Given the description of an element on the screen output the (x, y) to click on. 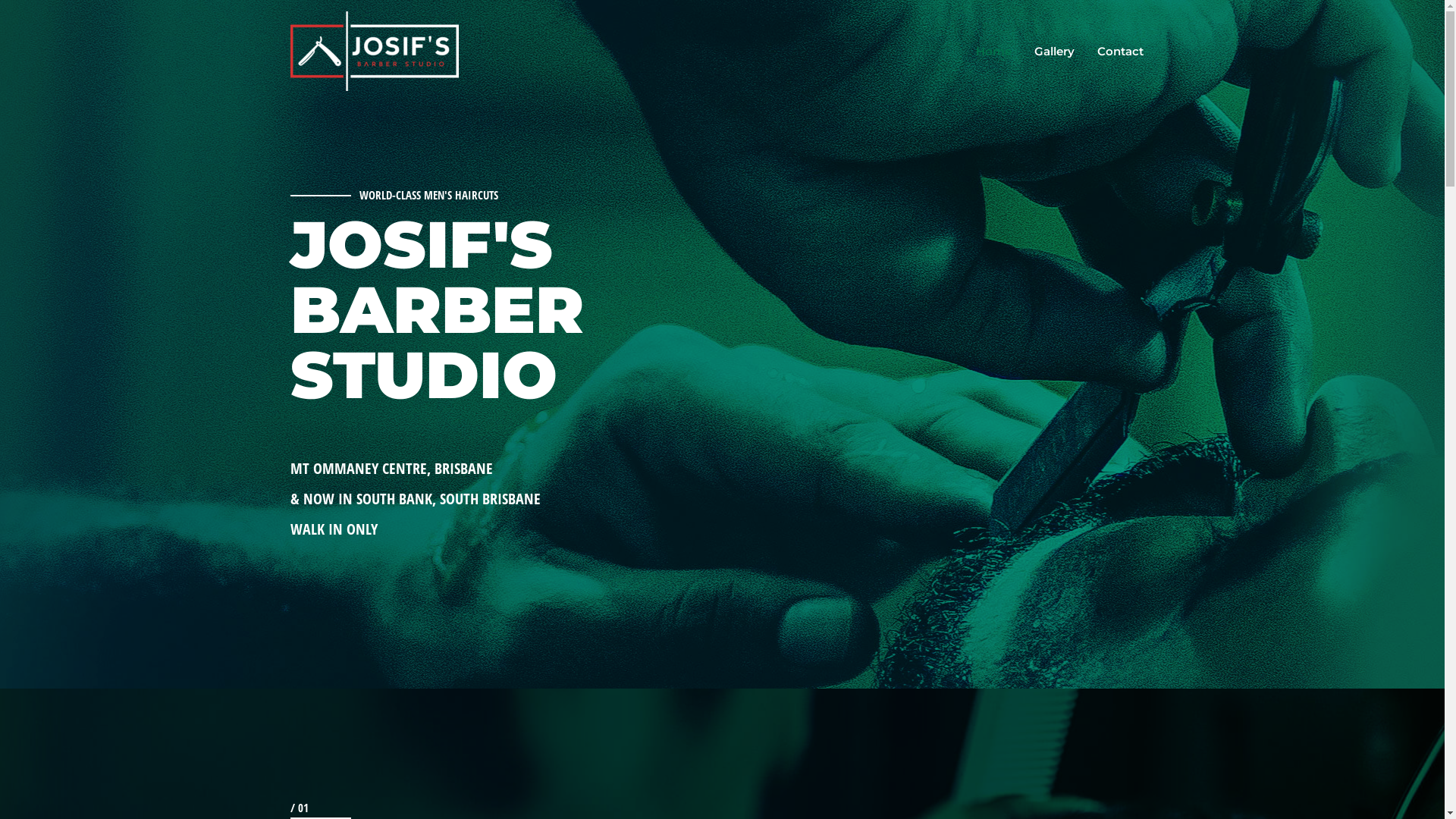
Gallery Element type: text (1053, 51)
Home Element type: text (993, 51)
Contact Element type: text (1119, 51)
